Given the description of an element on the screen output the (x, y) to click on. 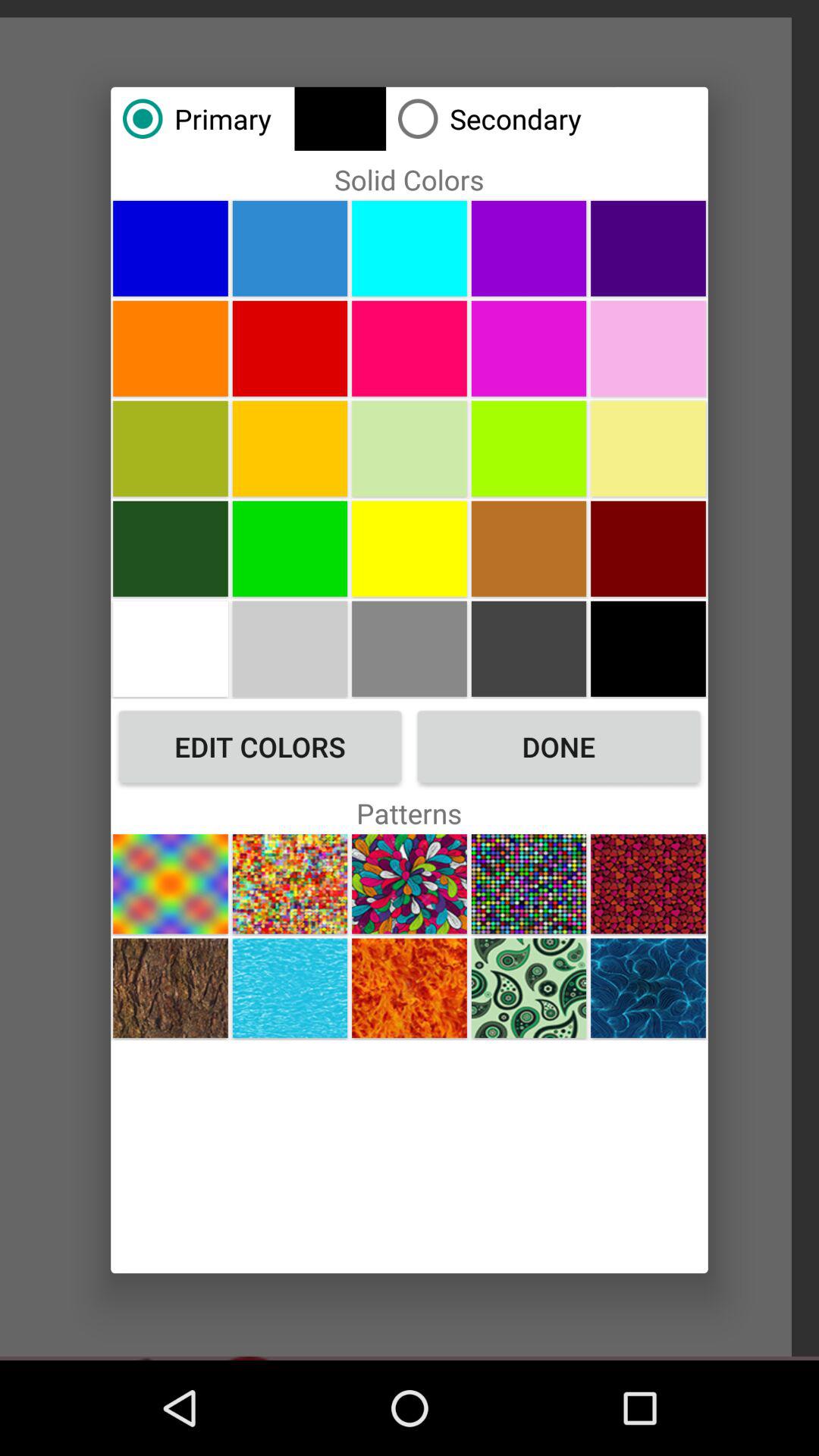
select this pattern (528, 883)
